Given the description of an element on the screen output the (x, y) to click on. 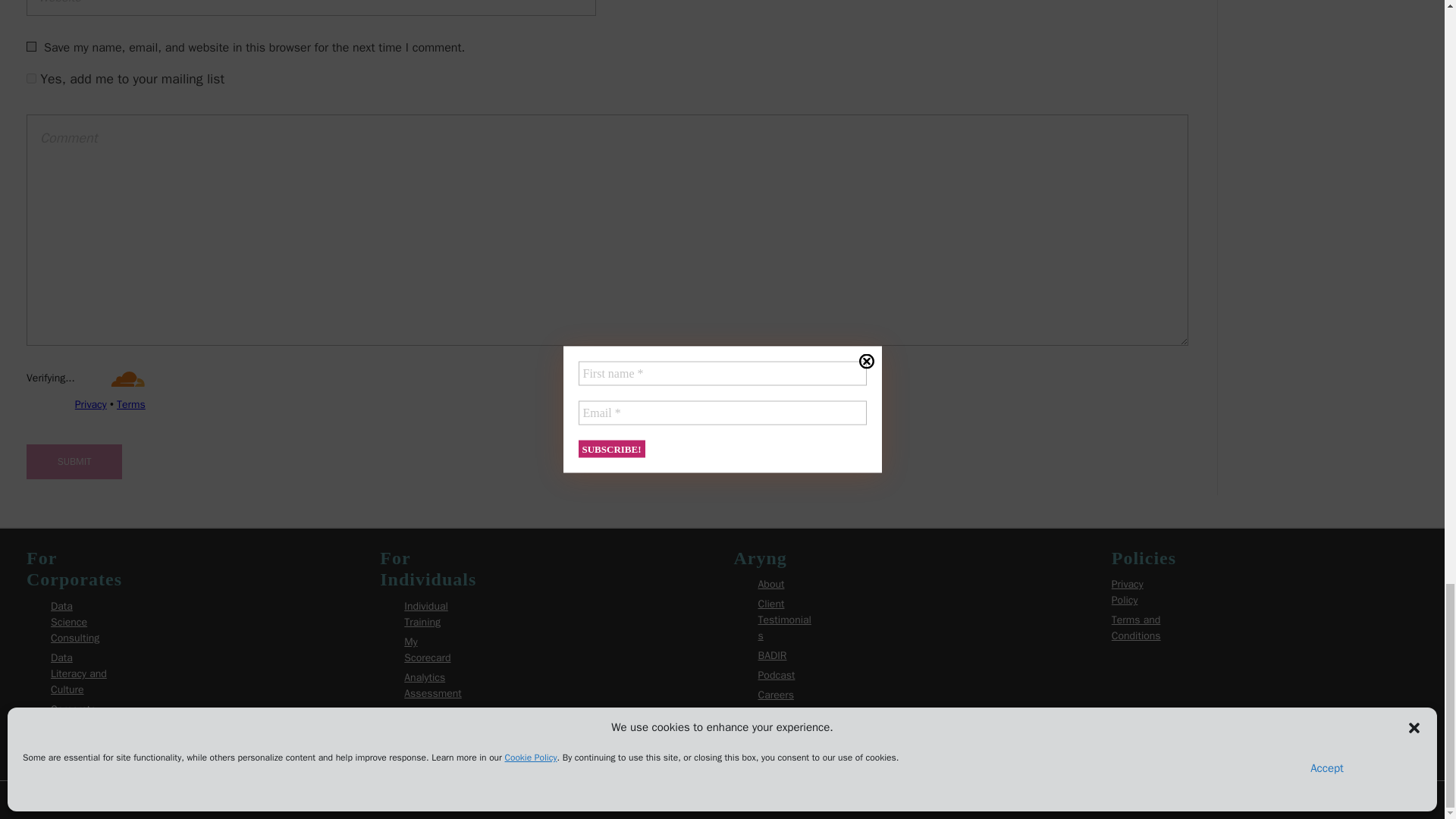
1 (31, 78)
My Scorecard (426, 649)
Evangelize Data Science and Data Culture (71, 744)
Analytics Assessment (432, 685)
yes (31, 46)
Data Literacy and Culture (78, 673)
Individual Training (426, 613)
Data Science Consulting (74, 621)
Corporate Training (73, 717)
Submit (74, 461)
